Given the description of an element on the screen output the (x, y) to click on. 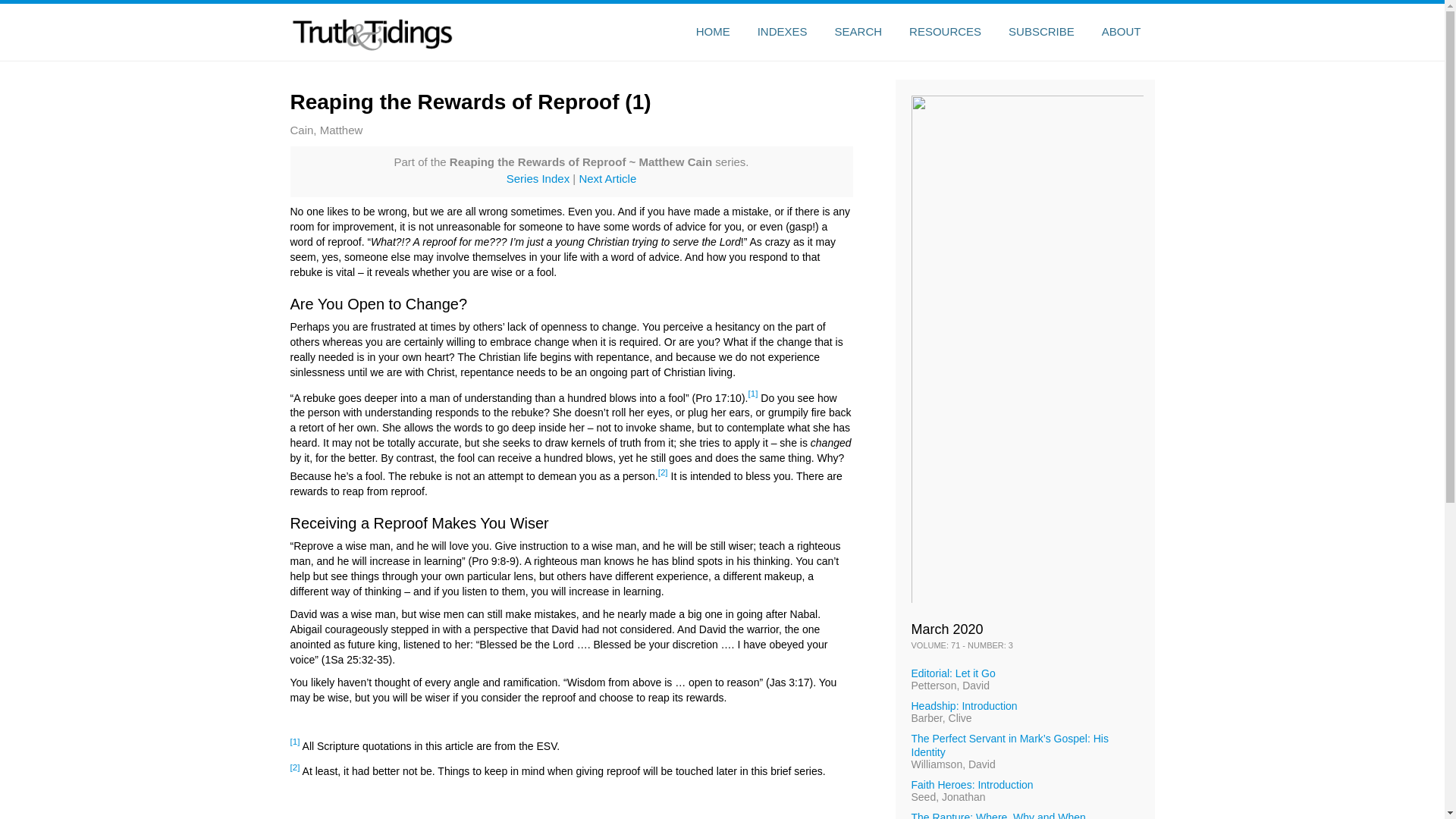
The Rapture: Where, Why and When (998, 815)
ABOUT (1120, 31)
INDEXES (782, 31)
The Rapture: Where, Why and When (998, 815)
HOME (713, 31)
SEARCH (858, 31)
SUBSCRIBE (1040, 31)
Faith Heroes: Introduction (972, 784)
Headship: Introduction (964, 705)
Faith Heroes: Introduction (972, 784)
